Given the description of an element on the screen output the (x, y) to click on. 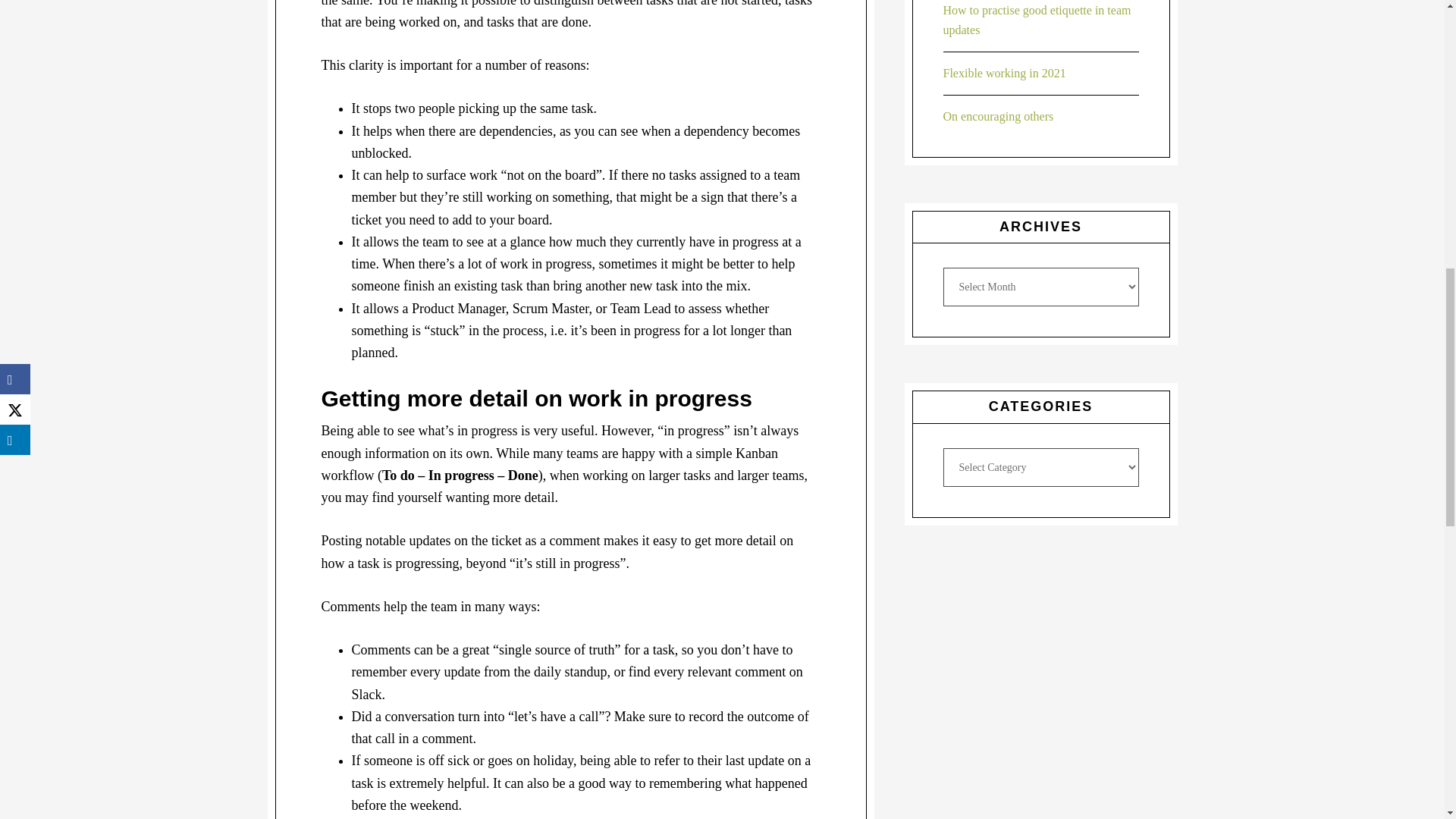
How to practise good etiquette in team updates (1037, 20)
On encouraging others (998, 115)
Flexible working in 2021 (1004, 72)
